Given the description of an element on the screen output the (x, y) to click on. 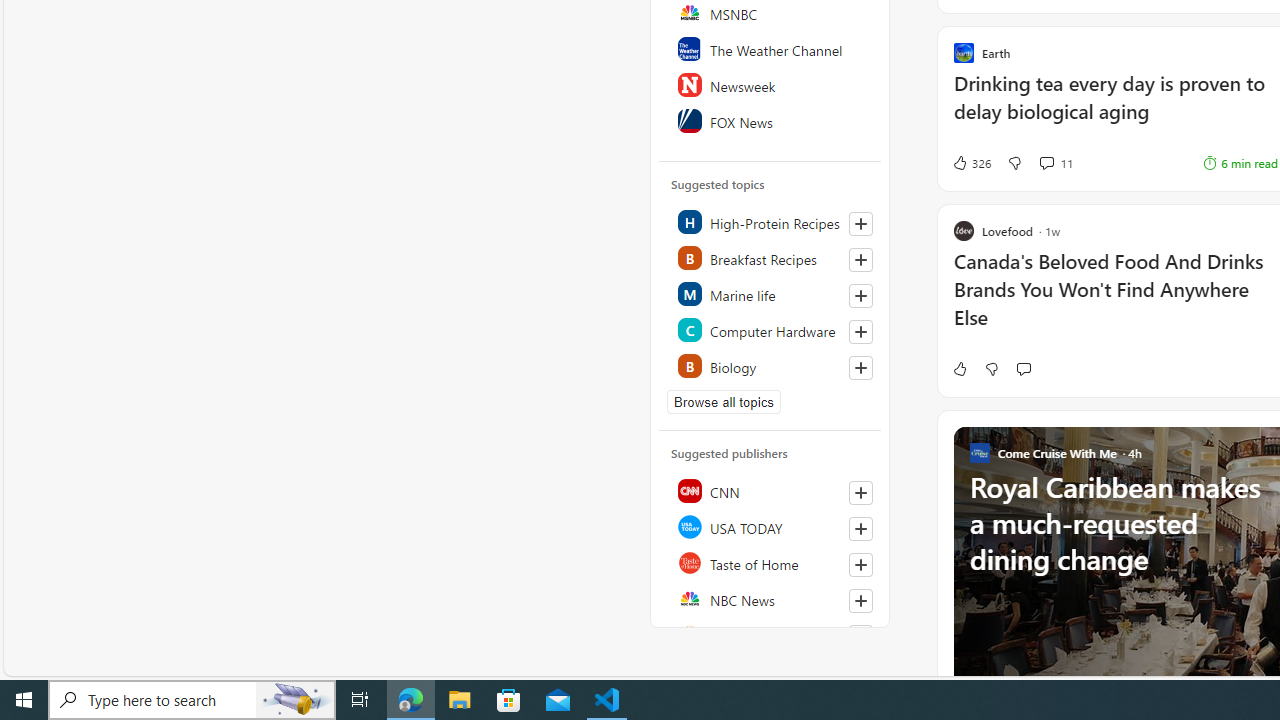
Like (959, 368)
USA TODAY (771, 526)
NBC News (771, 598)
View comments 11 Comment (1055, 162)
Taste of Home (771, 562)
Drinking tea every day is proven to delay biological aging (1115, 107)
FOX News (771, 120)
Reuters (771, 634)
Follow this topic (860, 367)
CNN (771, 490)
